Given the description of an element on the screen output the (x, y) to click on. 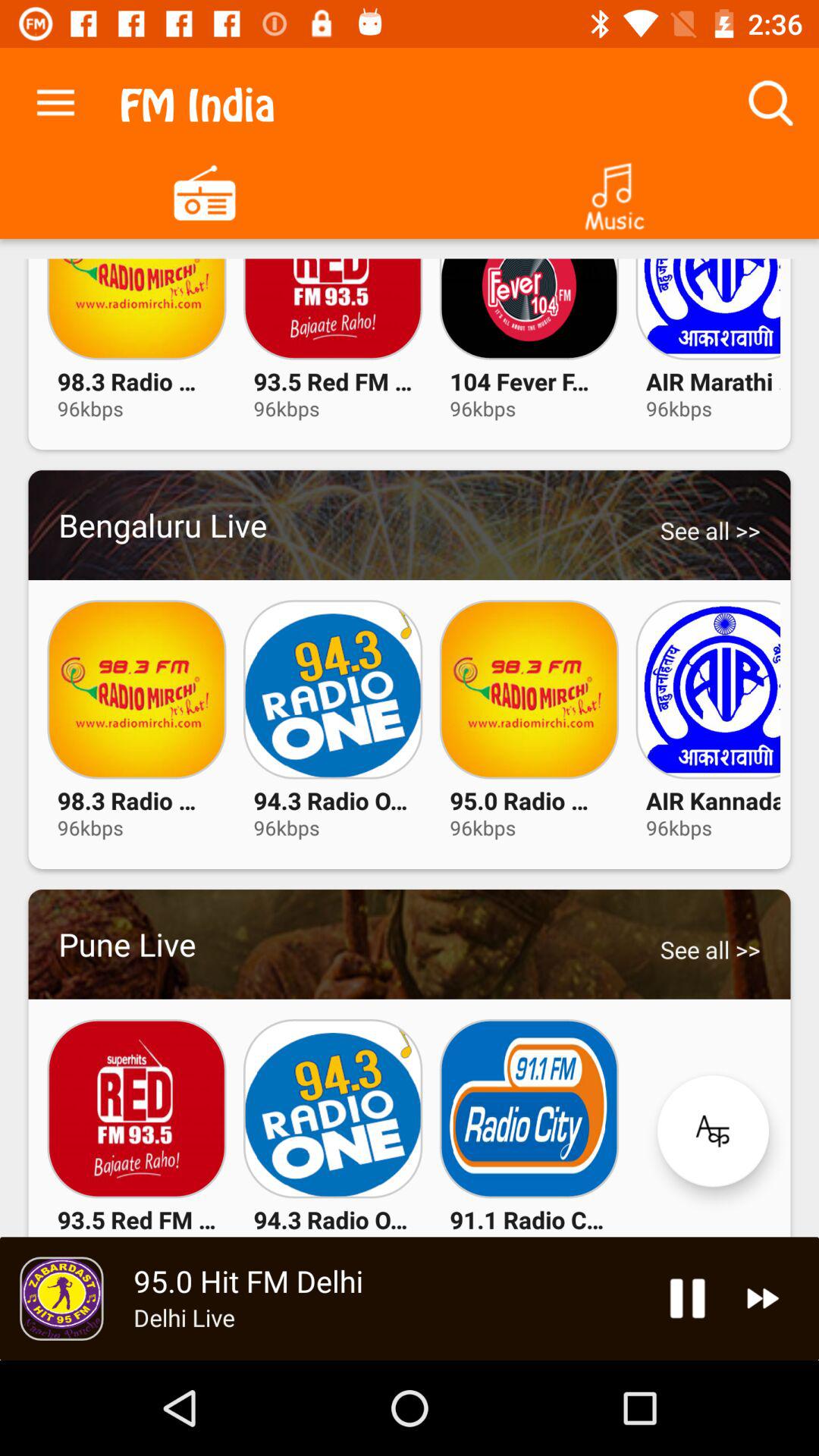
stations (204, 190)
